Given the description of an element on the screen output the (x, y) to click on. 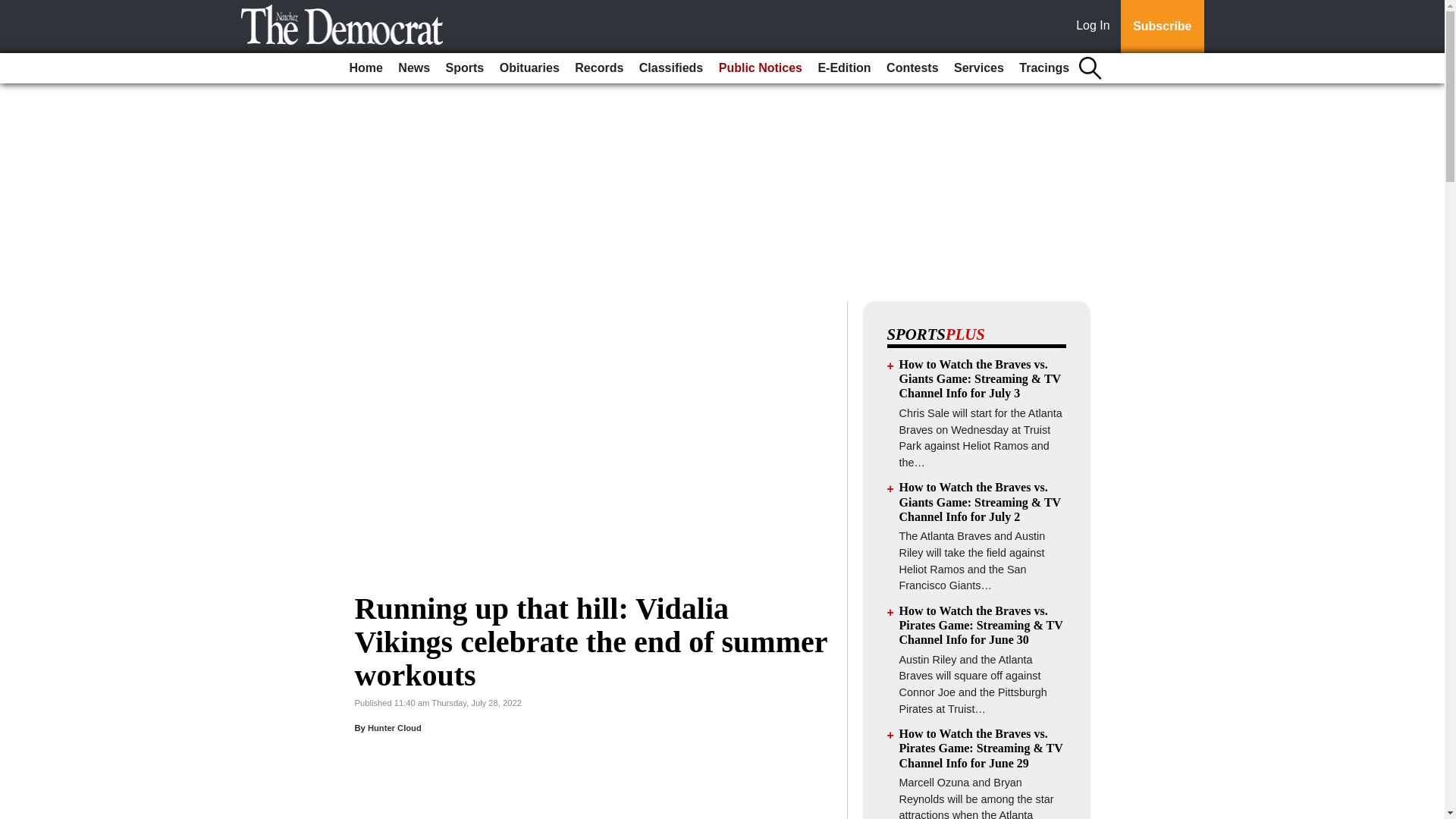
News (413, 68)
Records (598, 68)
Tracings (1044, 68)
Go (13, 9)
Public Notices (760, 68)
Hunter Cloud (395, 727)
Services (978, 68)
Home (365, 68)
Log In (1095, 26)
Sports (464, 68)
Contests (911, 68)
Classifieds (671, 68)
E-Edition (843, 68)
Subscribe (1162, 26)
Obituaries (529, 68)
